Given the description of an element on the screen output the (x, y) to click on. 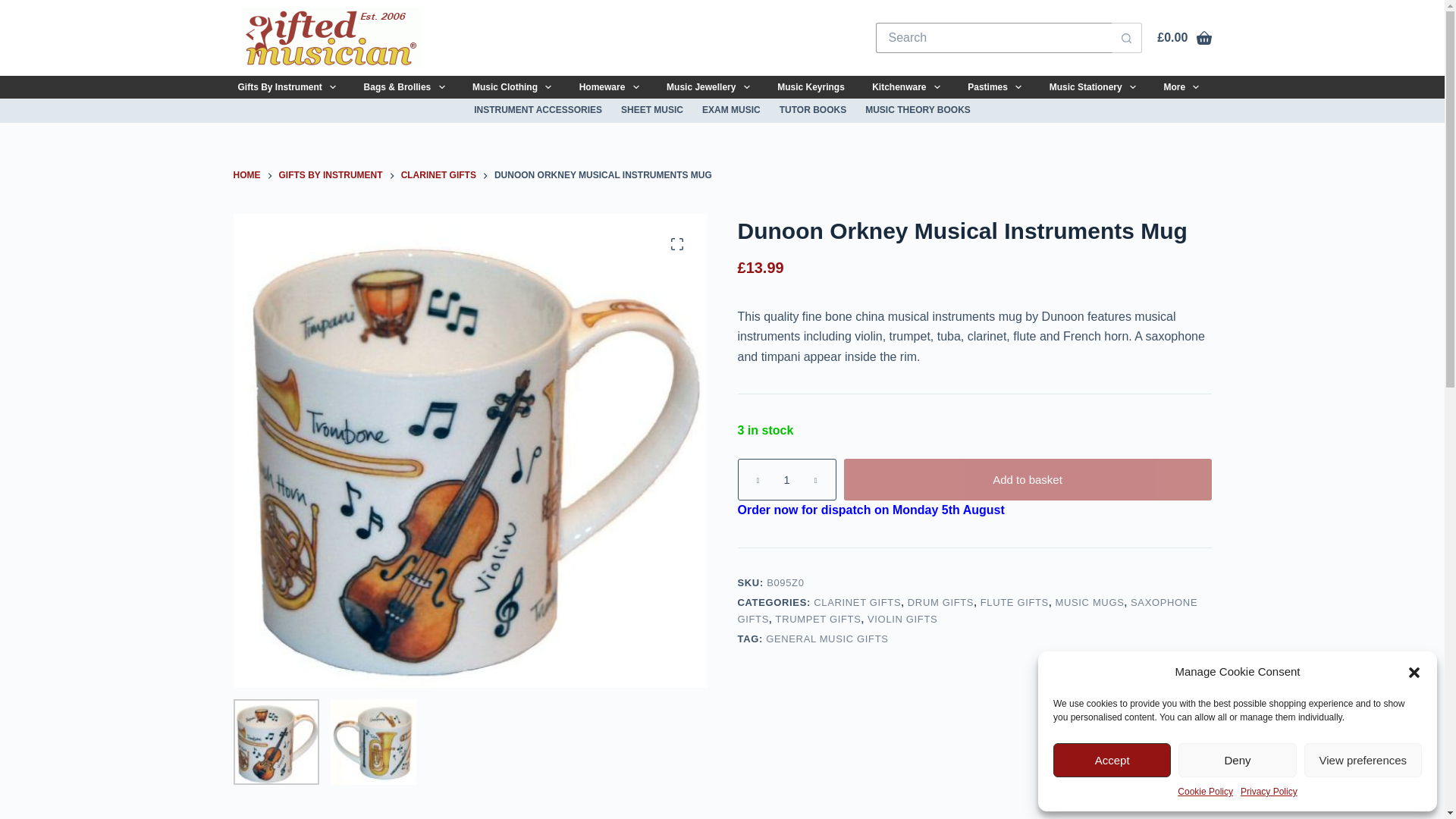
Dunoon Orkney Musical Instruments Mug (373, 741)
Dunoon Orkney Musical Instruments Mug (275, 741)
Deny (1236, 759)
Search for... (994, 37)
Privacy Policy (1268, 792)
Cookie Policy (1205, 792)
1 (785, 479)
Gifts By Instrument (286, 87)
Accept (1111, 759)
View preferences (1363, 759)
Skip to content (15, 7)
